Given the description of an element on the screen output the (x, y) to click on. 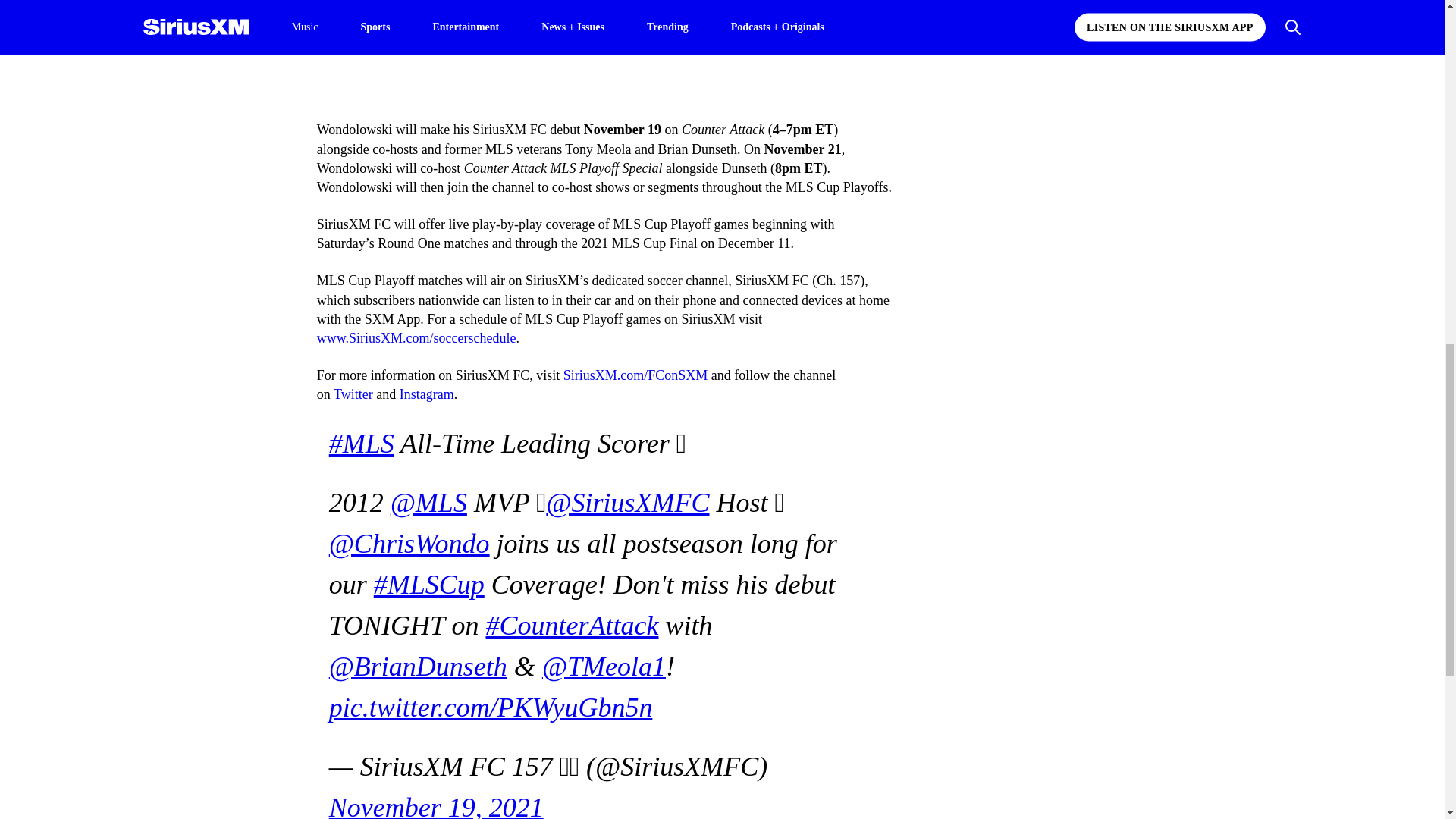
Twitter (352, 394)
Chris Wondolowski (457, 16)
Instagram (426, 394)
